Given the description of an element on the screen output the (x, y) to click on. 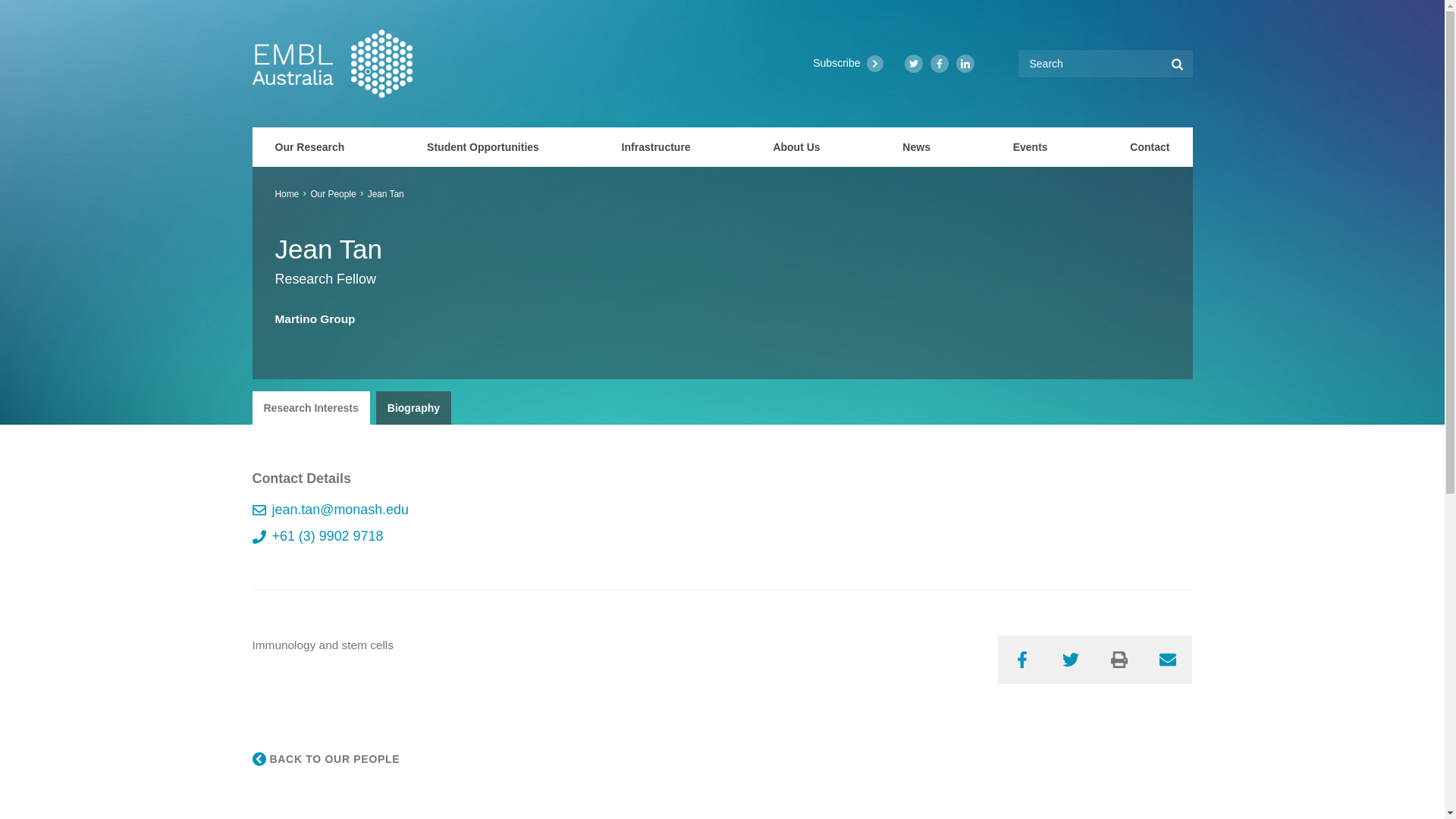
Infrastructure (655, 147)
Twitter (912, 63)
Search (1176, 62)
Facebook (938, 63)
Twitter (1070, 659)
Our People (332, 194)
Home (286, 194)
Our Research (308, 147)
Student Opportunities (483, 147)
Biography (413, 408)
Jean Tan (386, 194)
Research Interests (310, 408)
Facebook (1021, 659)
EMBL Australia (331, 63)
News (916, 147)
